Given the description of an element on the screen output the (x, y) to click on. 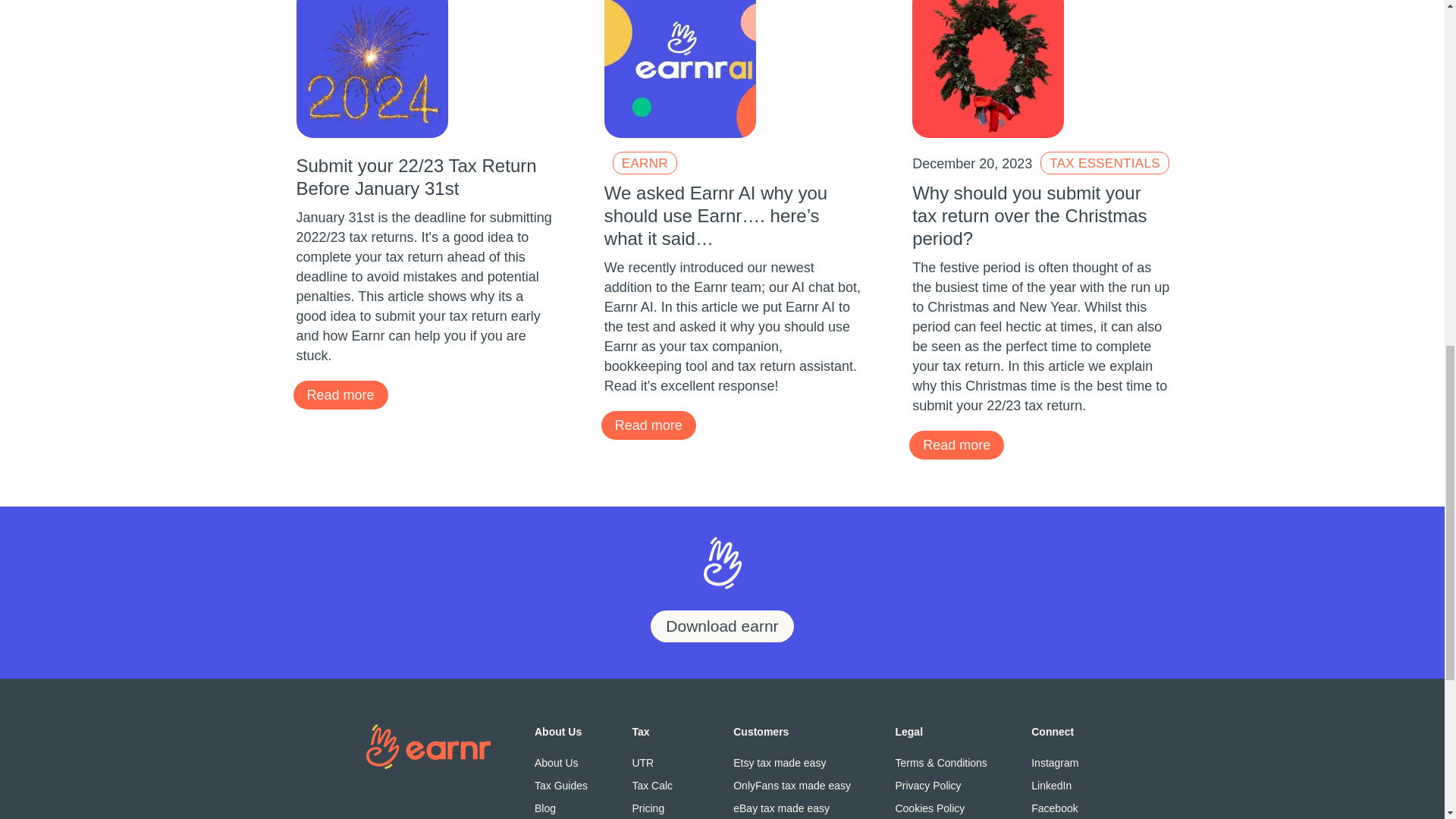
Read more (648, 425)
UTR (659, 762)
Download earnr (721, 626)
About Us (561, 762)
Tax Guides (561, 785)
Read more (956, 444)
Pricing (659, 807)
Read more (339, 394)
TAX ESSENTIALS (1105, 162)
Tax Calc (659, 785)
EARNR (644, 162)
Blog (561, 807)
